Given the description of an element on the screen output the (x, y) to click on. 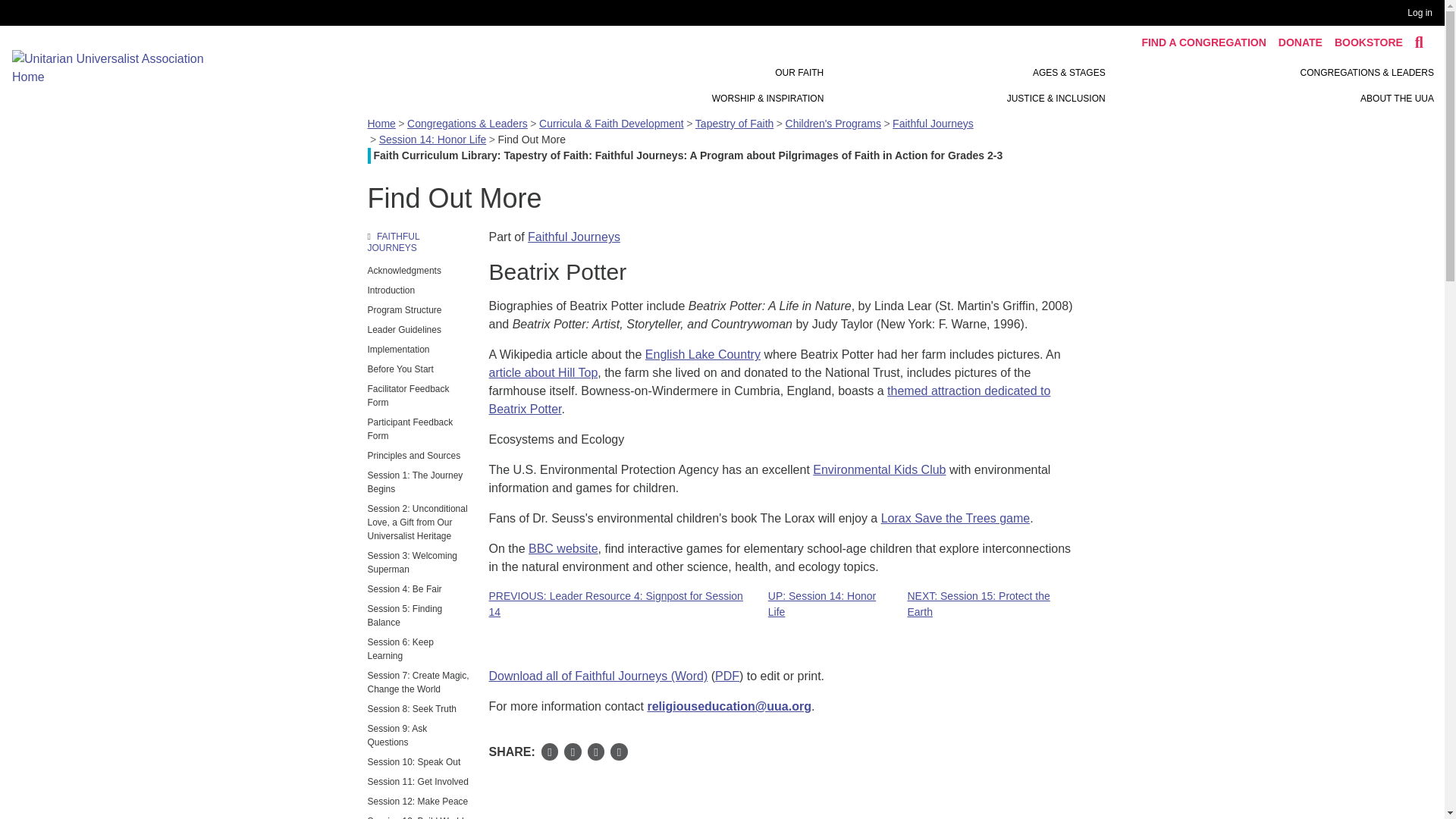
Go up this menu (418, 242)
Site Menu (962, 85)
Share by email (596, 751)
Share on Facebook (550, 751)
Home (117, 66)
Share on Twitter (572, 751)
Print this page (618, 751)
BOOKSTORE (1368, 42)
OUR FAITH (799, 72)
Log in (1423, 12)
